Given the description of an element on the screen output the (x, y) to click on. 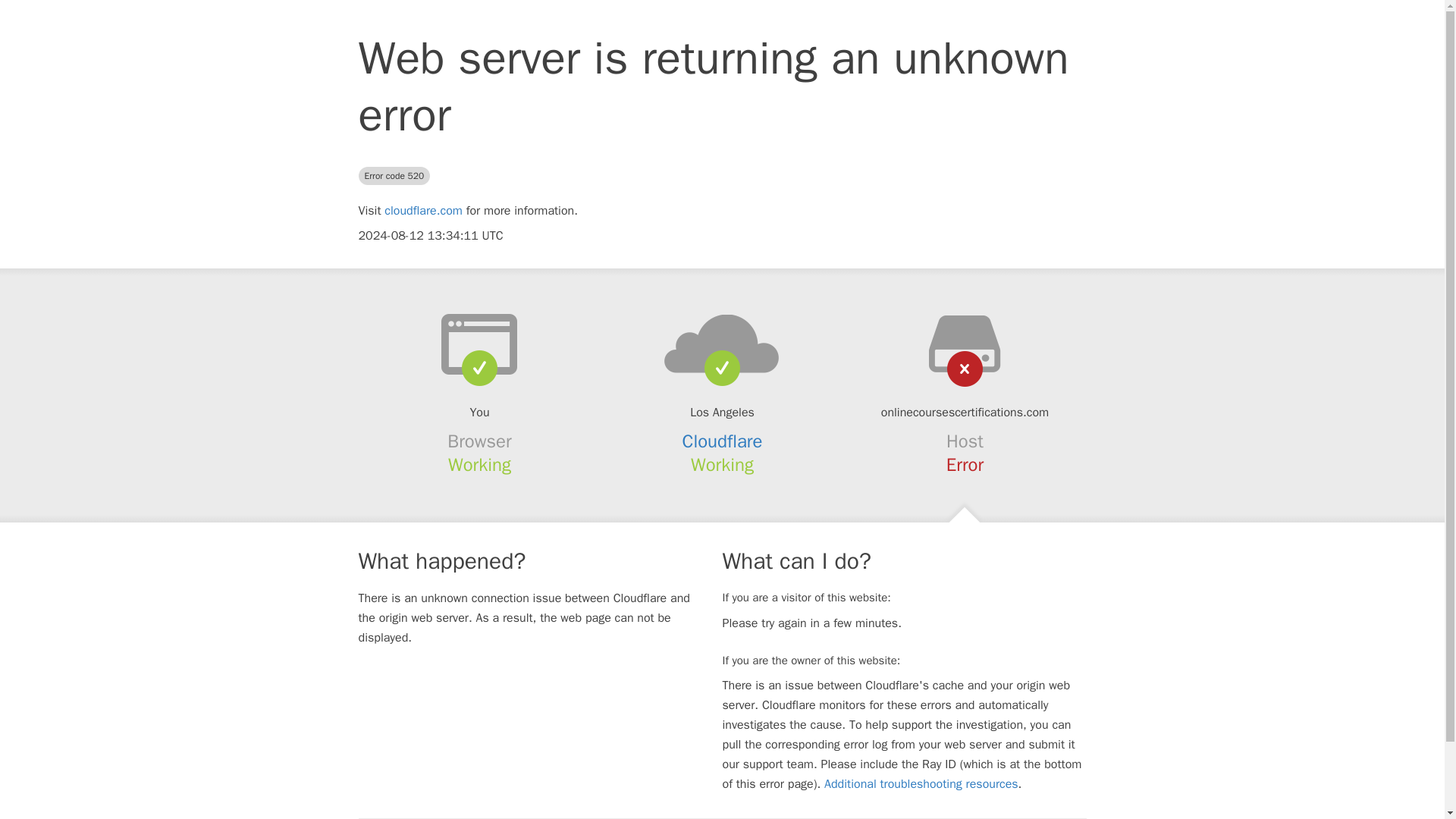
Additional troubleshooting resources (920, 783)
Cloudflare (722, 440)
cloudflare.com (423, 210)
